Given the description of an element on the screen output the (x, y) to click on. 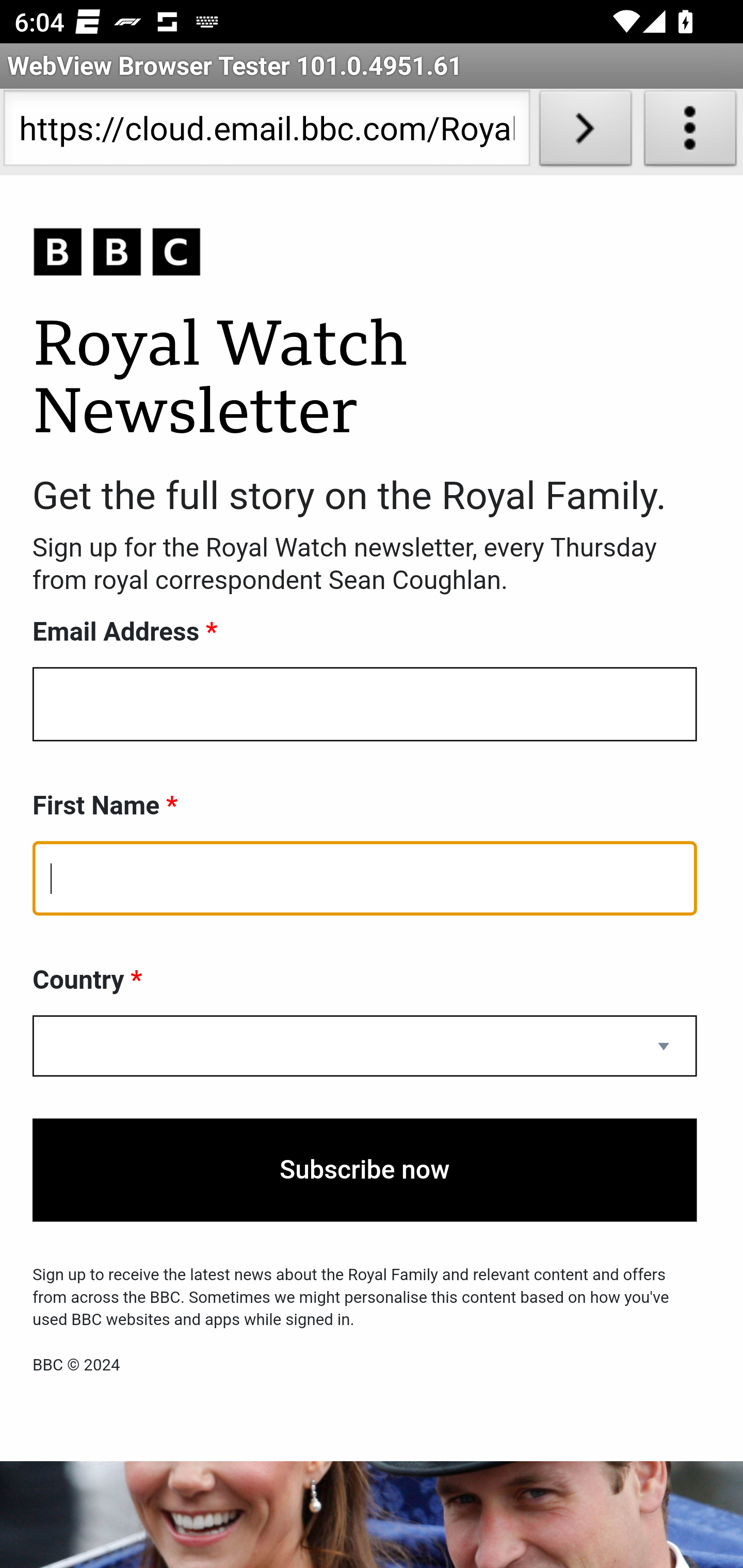
Load URL (585, 132)
About WebView (690, 132)
BBC (364, 253)
Subscribe now (364, 1170)
